Given the description of an element on the screen output the (x, y) to click on. 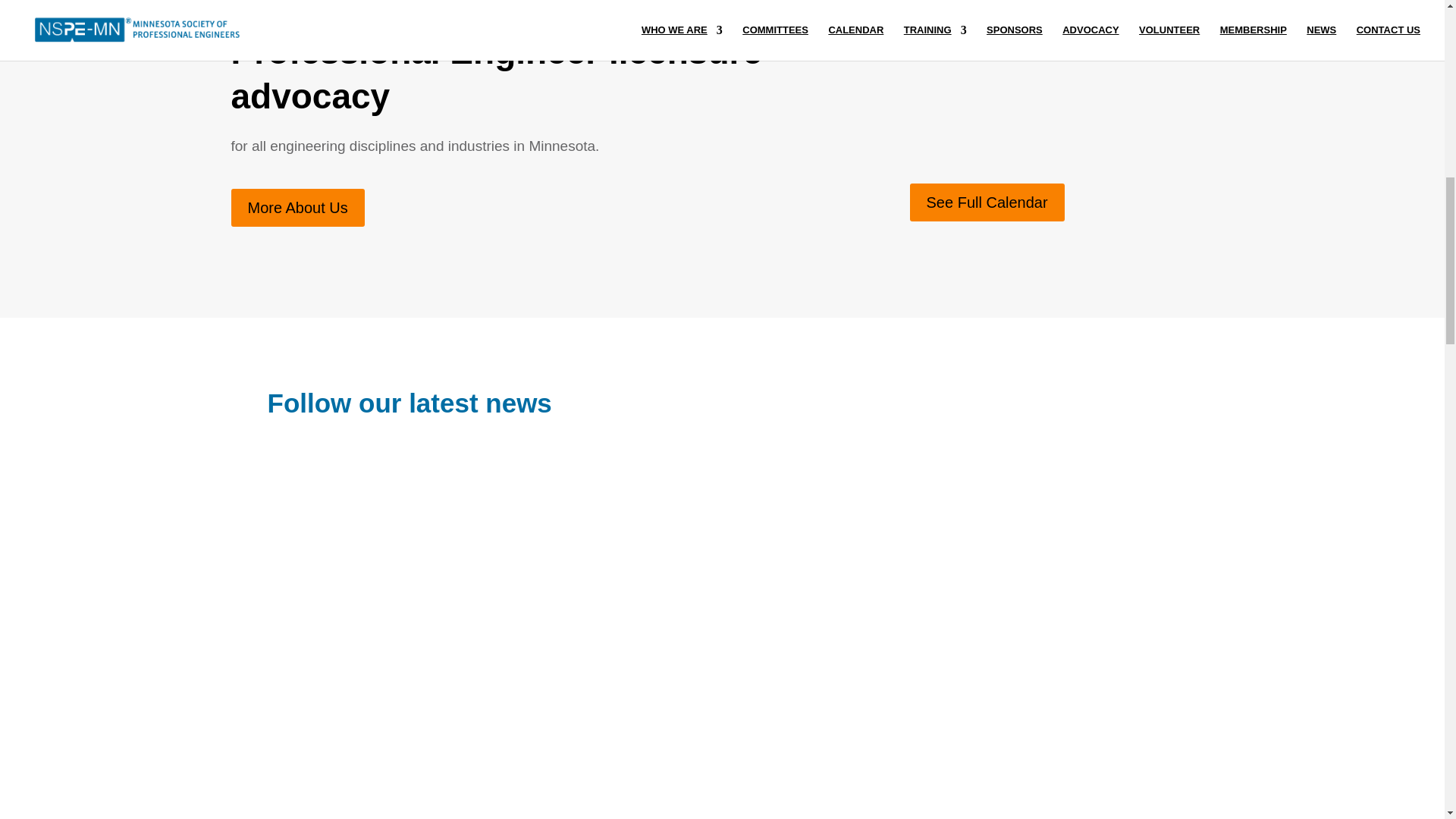
See Full Calendar (987, 202)
More About Us (297, 207)
